Given the description of an element on the screen output the (x, y) to click on. 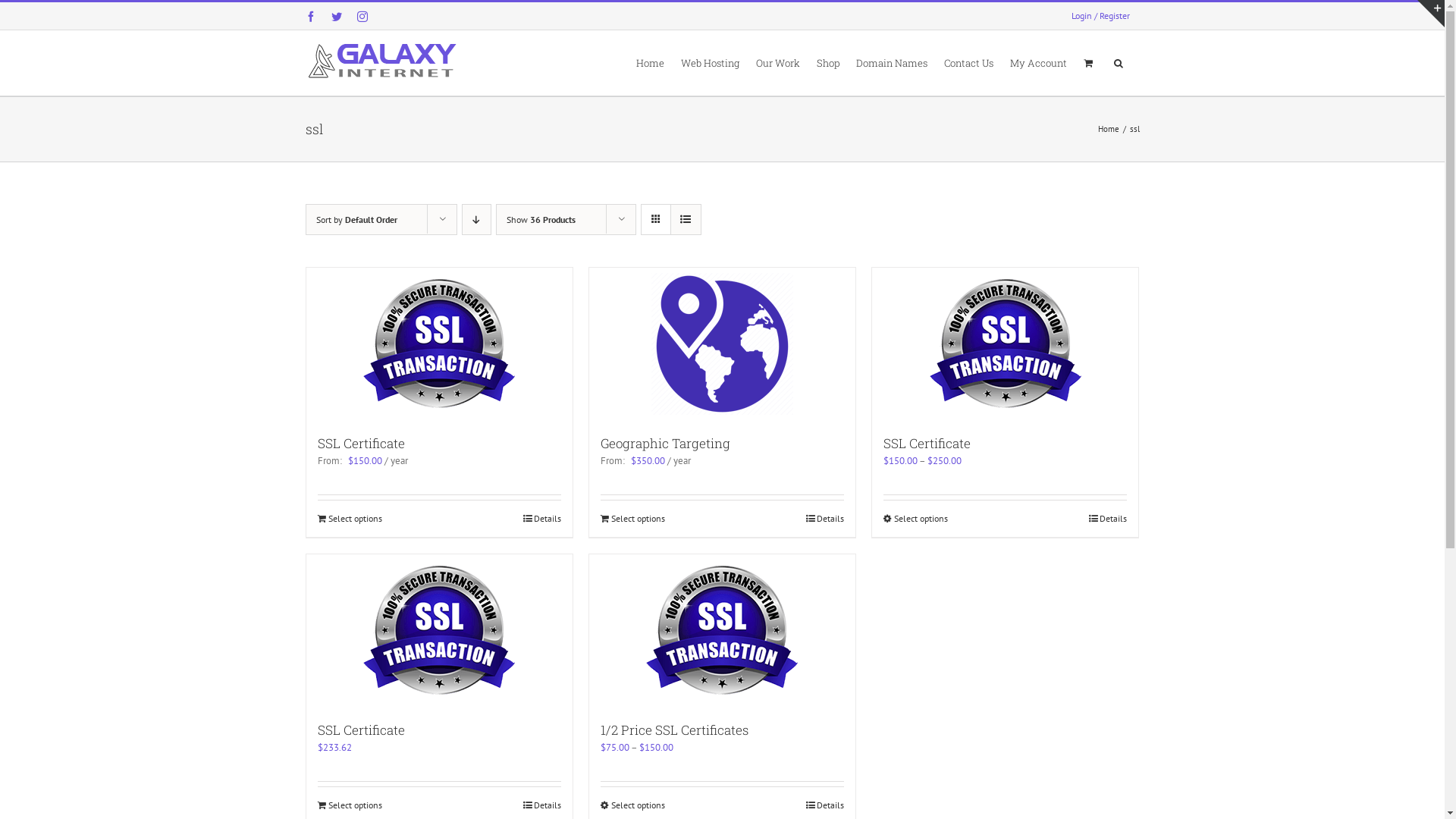
Select options Element type: text (348, 805)
Select options Element type: text (915, 518)
Select options Element type: text (632, 518)
Sort by Default Order Element type: text (355, 219)
Search Element type: hover (1117, 62)
Details Element type: text (542, 518)
Our Work Element type: text (777, 62)
Details Element type: text (542, 805)
Log In Element type: text (1107, 219)
SSL Certificate Element type: text (360, 442)
Web Hosting Element type: text (709, 62)
SSL Certificate Element type: text (360, 729)
Login / Register Element type: text (1100, 16)
Instagram Element type: text (361, 16)
Home Element type: text (649, 62)
My Account Element type: text (1038, 62)
Domain Names Element type: text (890, 62)
Geographic Targeting Element type: text (665, 442)
Details Element type: text (825, 805)
Shop Element type: text (826, 62)
Details Element type: text (1107, 518)
Select options Element type: text (632, 805)
Contact Us Element type: text (967, 62)
Show 36 Products Element type: text (540, 219)
Select options Element type: text (348, 518)
Home Element type: text (1108, 128)
SSL Certificate Element type: text (926, 442)
Toggle Sliding Bar Area Element type: text (1430, 13)
Details Element type: text (825, 518)
Twitter Element type: text (335, 16)
1/2 Price SSL Certificates Element type: text (674, 729)
Facebook Element type: text (309, 16)
